Given the description of an element on the screen output the (x, y) to click on. 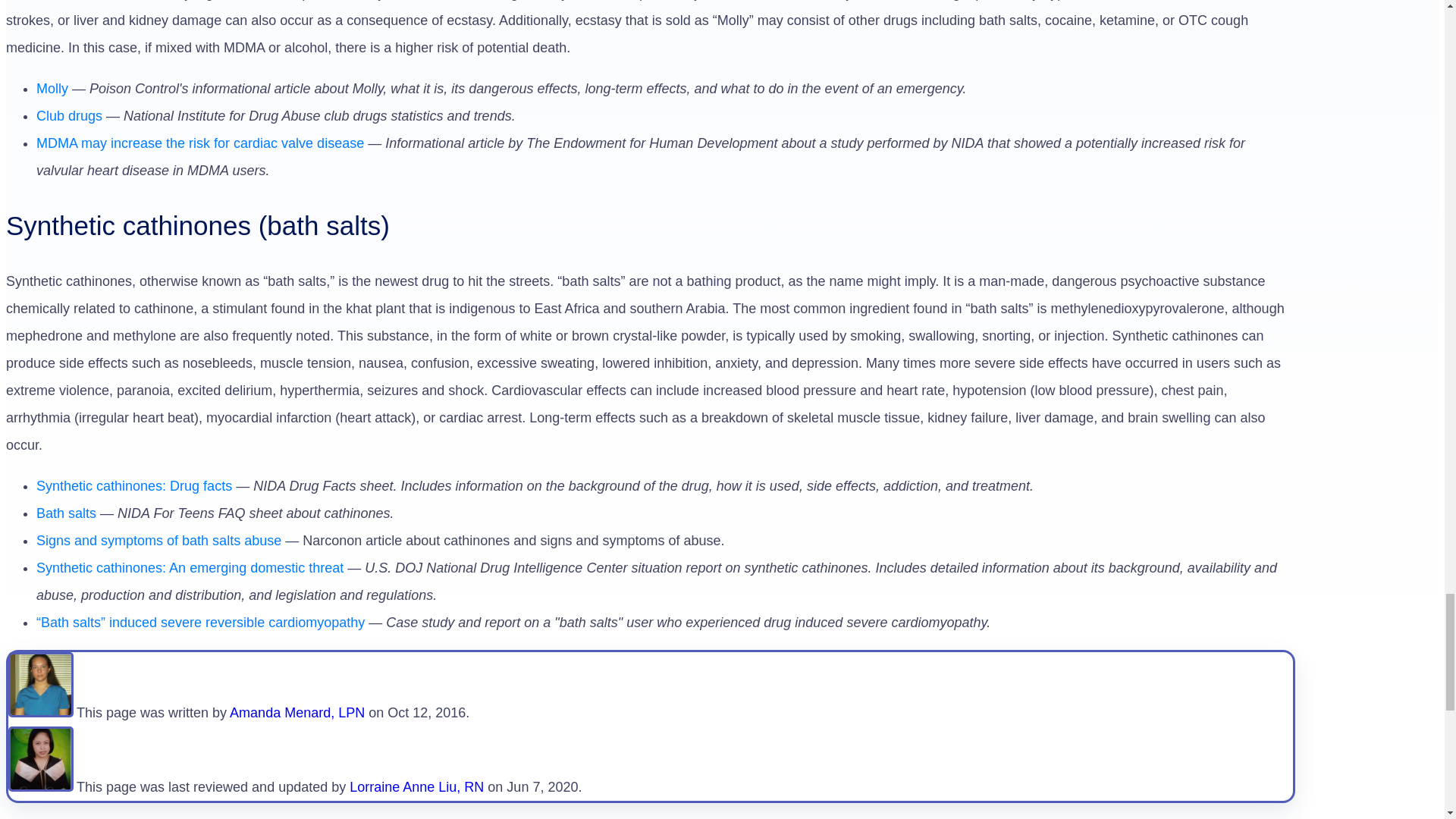
Amanda Menard, LPN (297, 712)
Lorraine Anne Liu, RN (41, 787)
Lorraine Anne Liu, RN (416, 786)
Amanda Menard, LPN (41, 712)
